Given the description of an element on the screen output the (x, y) to click on. 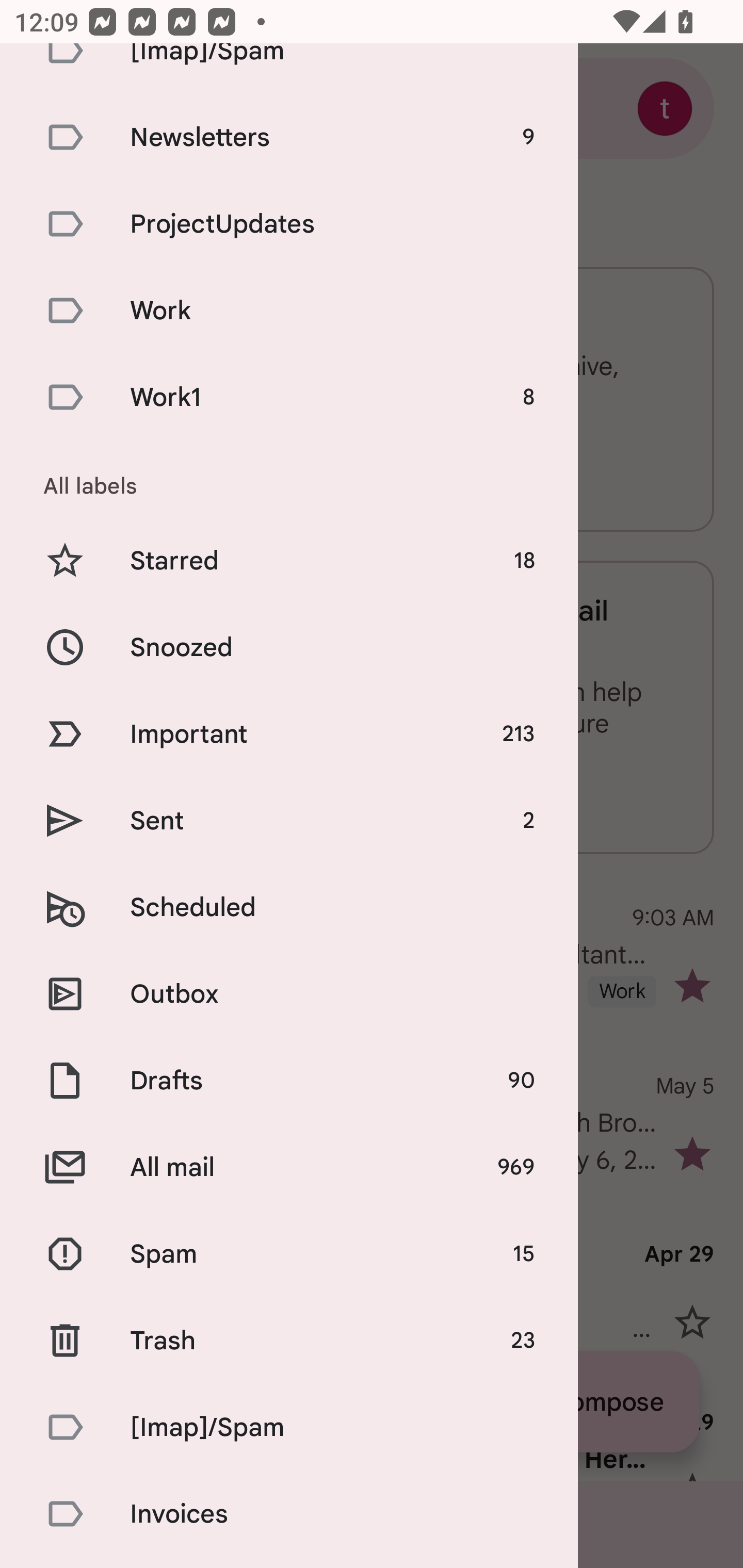
[Imap]/Spam (289, 68)
Newsletters 9 (289, 137)
ProjectUpdates (289, 223)
Work (289, 310)
Work1 8 (289, 397)
Starred 18 (289, 560)
Snoozed (289, 646)
Important 213 (289, 733)
Sent 2 (289, 820)
Scheduled (289, 906)
Outbox (289, 994)
Drafts 90 (289, 1081)
All mail 969 (289, 1167)
Spam 15 (289, 1253)
Trash 23 (289, 1340)
[Imap]/Spam (289, 1427)
Invoices (289, 1513)
